Given the description of an element on the screen output the (x, y) to click on. 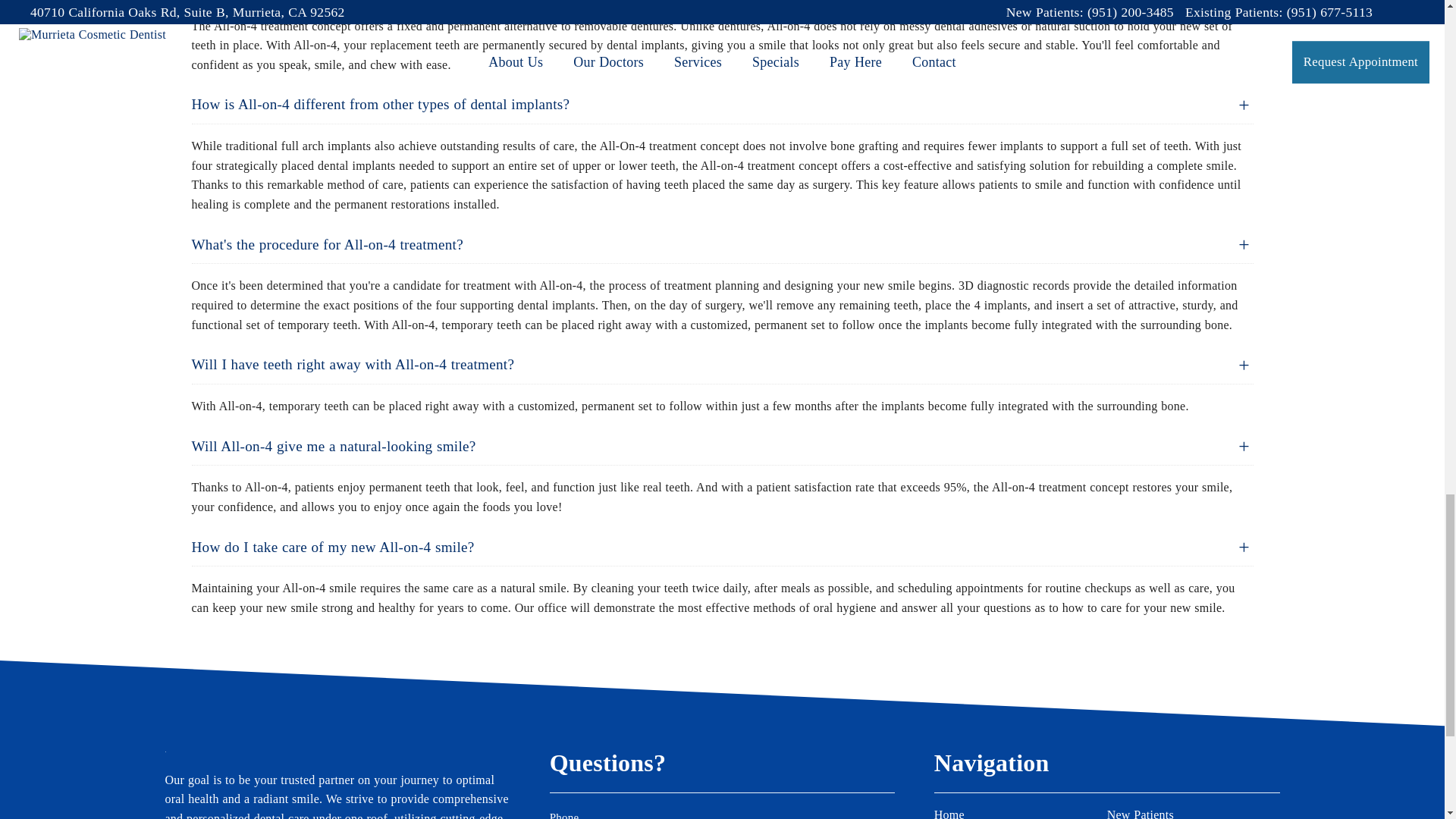
Home (1020, 813)
New Patients (1192, 813)
